Given the description of an element on the screen output the (x, y) to click on. 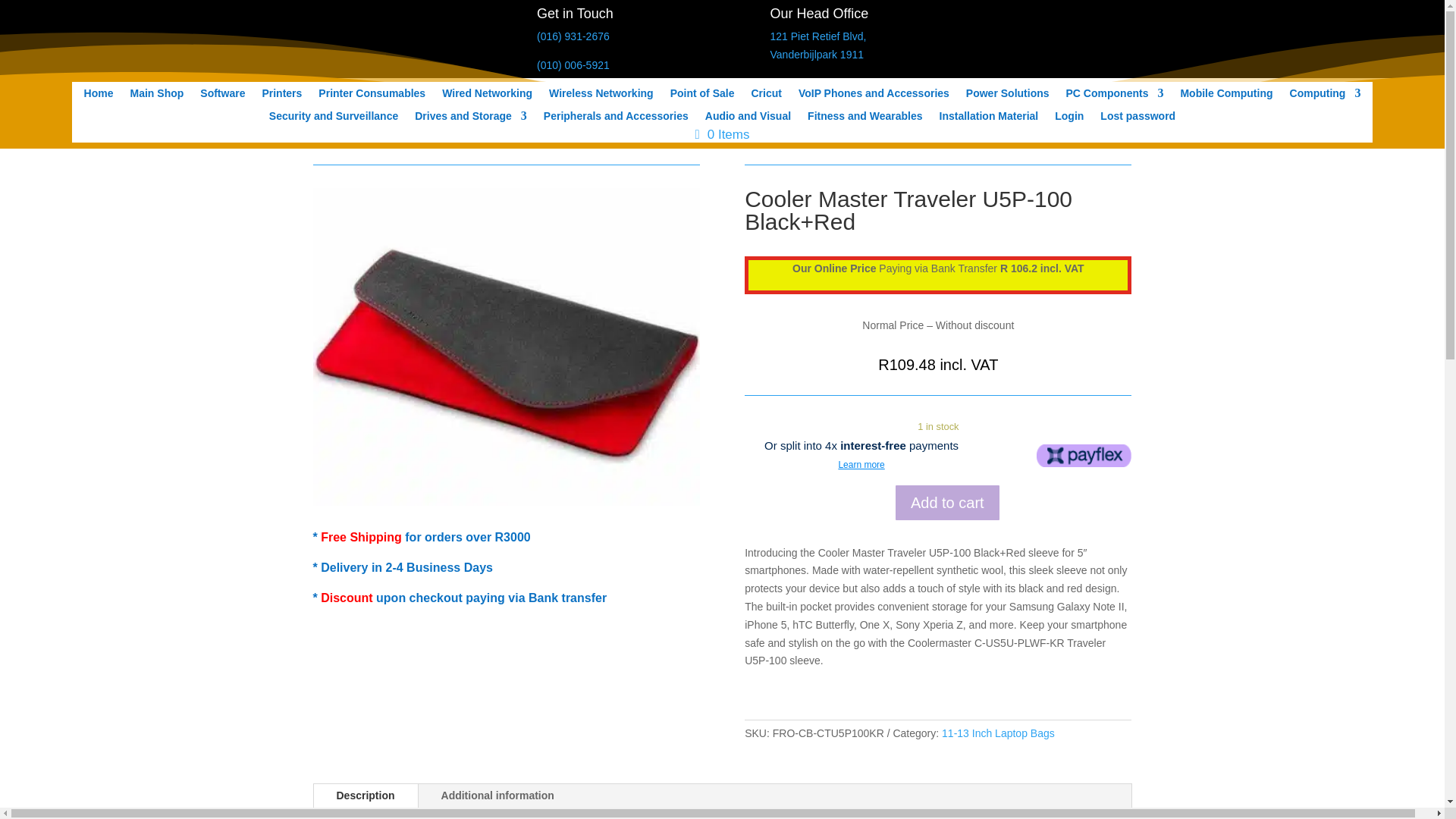
Mobile Computing (1225, 95)
Point of Sale (702, 95)
Printers (281, 95)
Security and Surveillance (333, 118)
rd (505, 347)
Computing (1325, 95)
Cricut (765, 95)
PC Components (1114, 95)
Wireless Networking (600, 95)
Power Solutions (1007, 95)
Wired Networking (487, 95)
Main Shop (157, 95)
Fitness and Wearables (864, 118)
Software (222, 95)
